Given the description of an element on the screen output the (x, y) to click on. 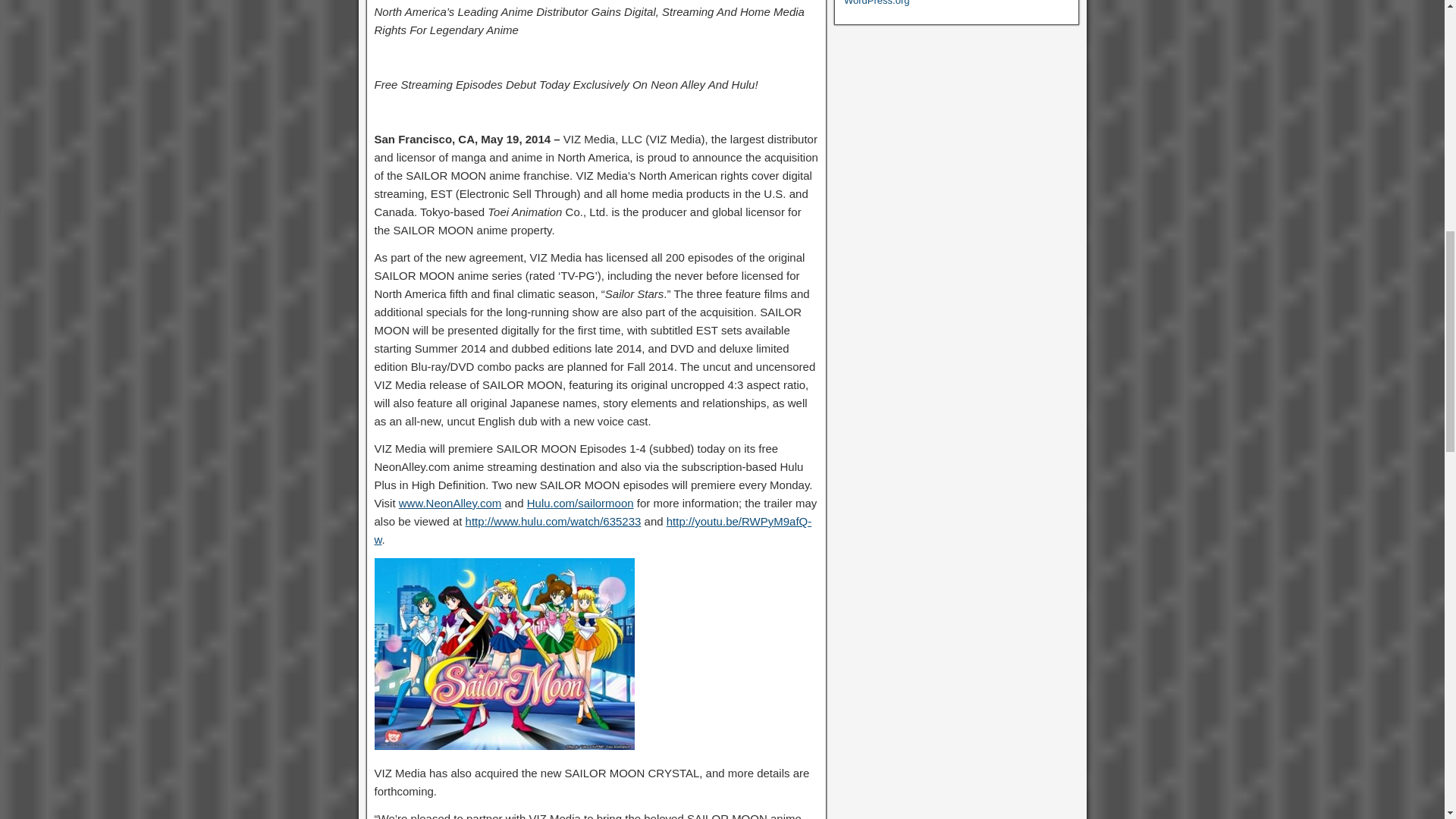
www.NeonAlley.com (450, 502)
